Given the description of an element on the screen output the (x, y) to click on. 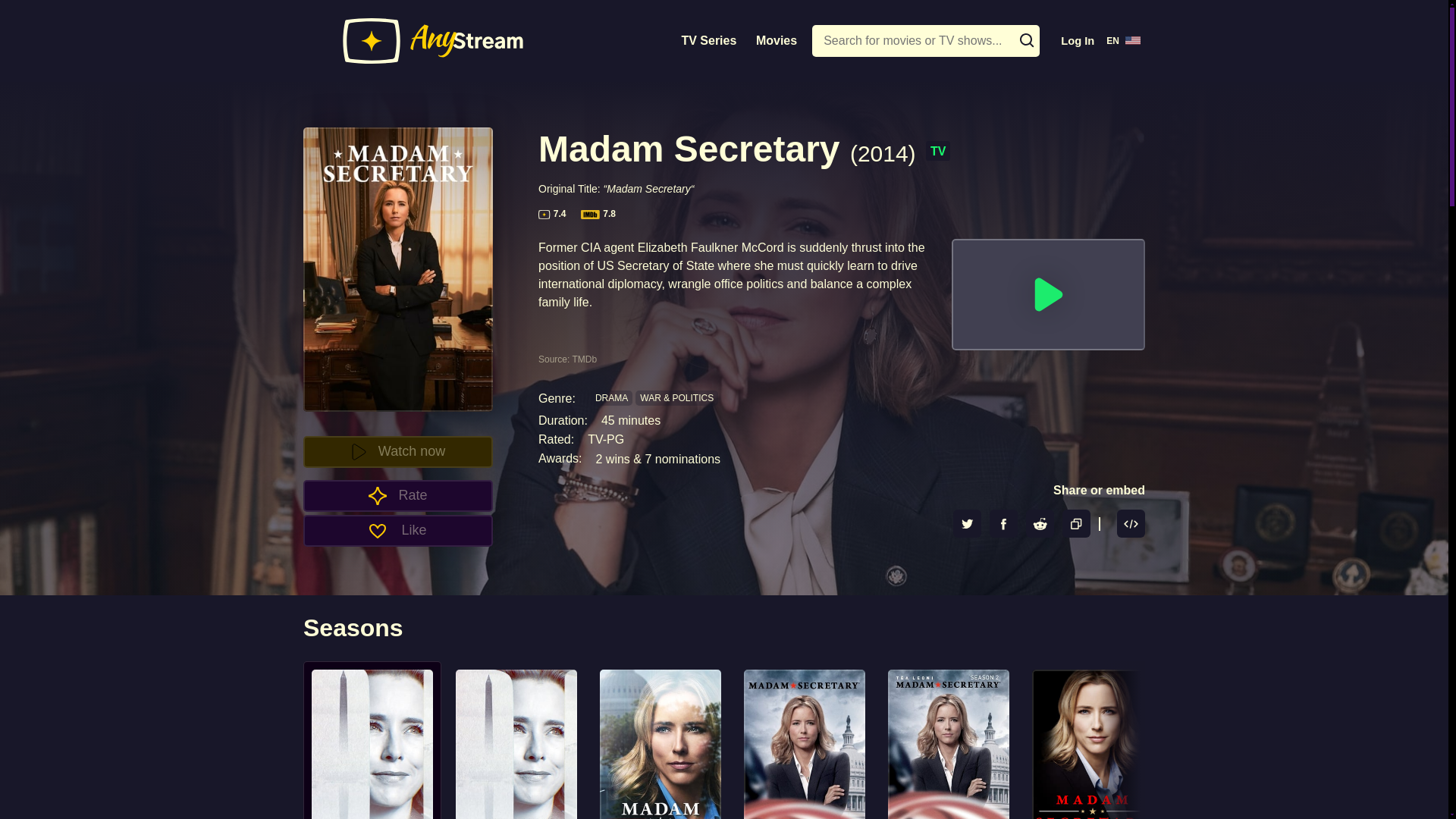
Movies (776, 40)
TV Series (708, 40)
Log In (1077, 40)
